Given the description of an element on the screen output the (x, y) to click on. 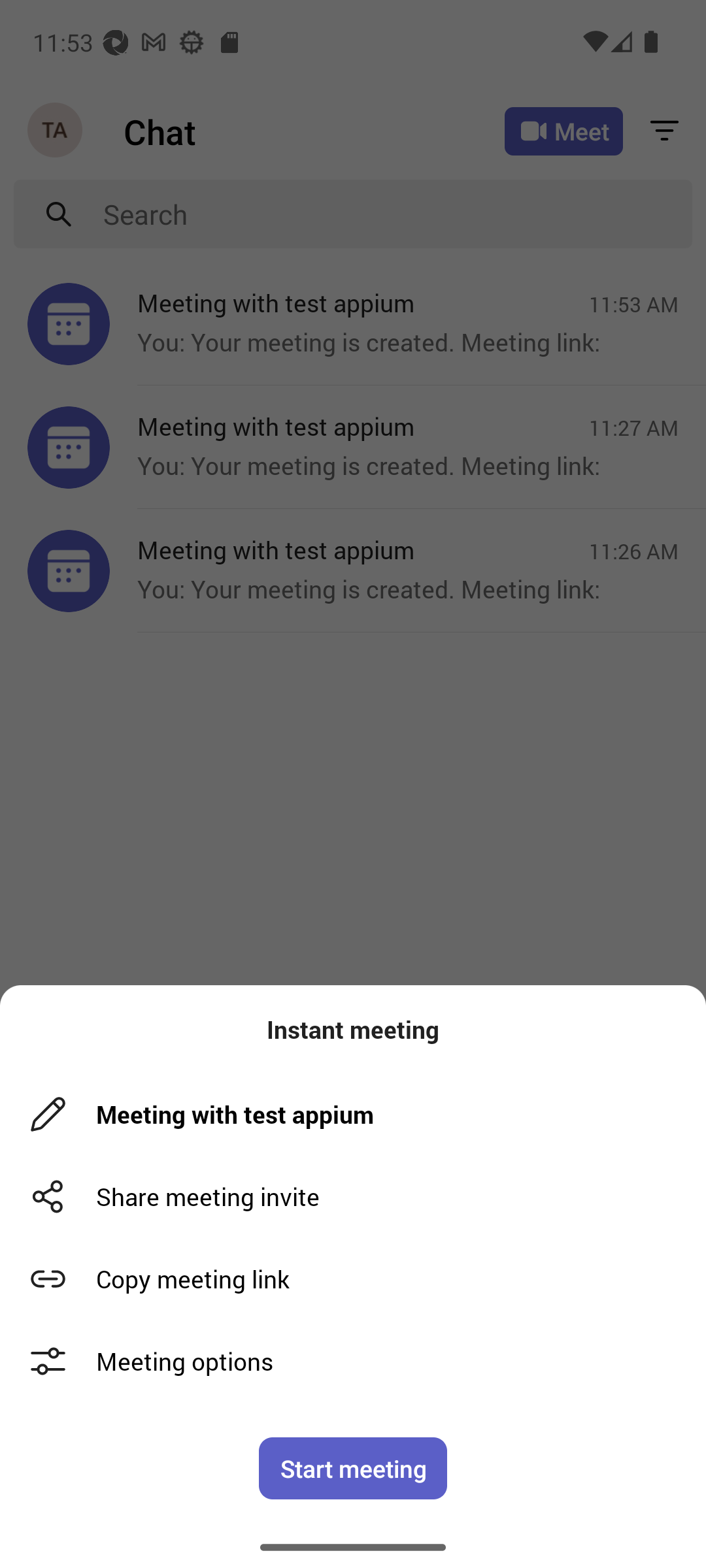
Meeting with test appium (359, 1114)
Share meeting invite (353, 1196)
Copy meeting link (353, 1279)
Meeting options (353, 1361)
Start meeting (352, 1468)
